Given the description of an element on the screen output the (x, y) to click on. 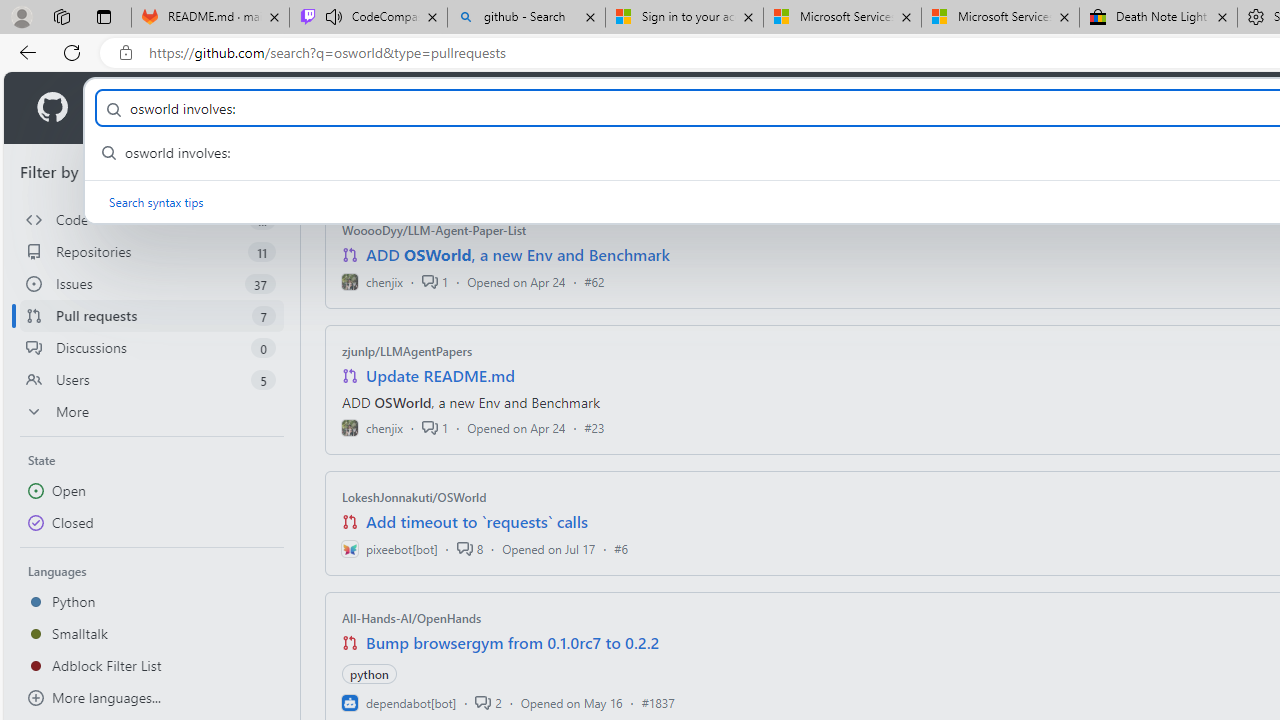
#1837 (657, 702)
Update README.md (440, 376)
#23 (594, 427)
#6 (621, 548)
github - Search (526, 17)
Homepage (51, 107)
Product (130, 107)
Enterprise (563, 107)
Enterprise (563, 107)
